Given the description of an element on the screen output the (x, y) to click on. 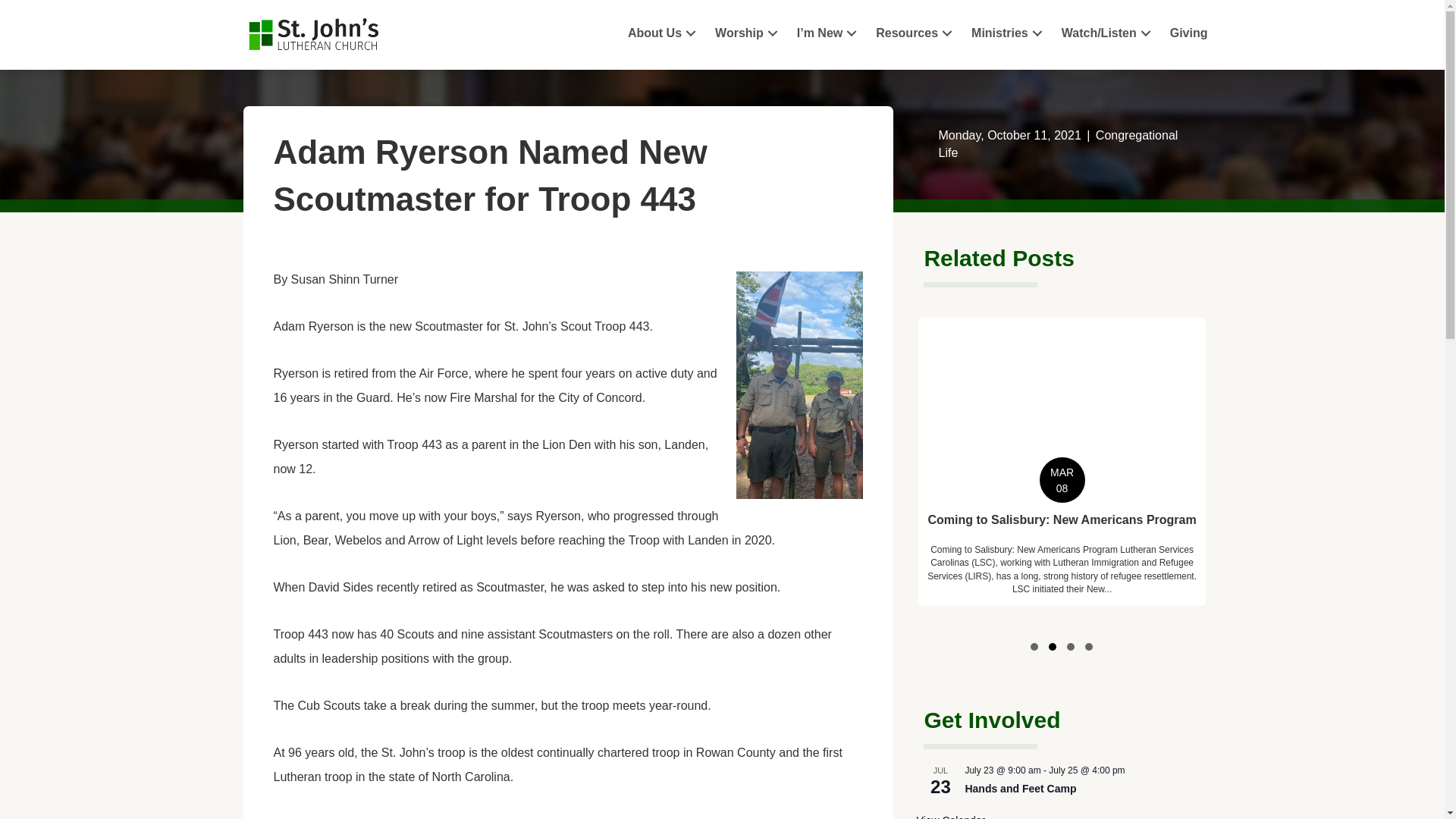
St. John's Lutheran Church (314, 34)
Coming to Salisbury: New Americans Program (1061, 461)
About Us (663, 32)
